Given the description of an element on the screen output the (x, y) to click on. 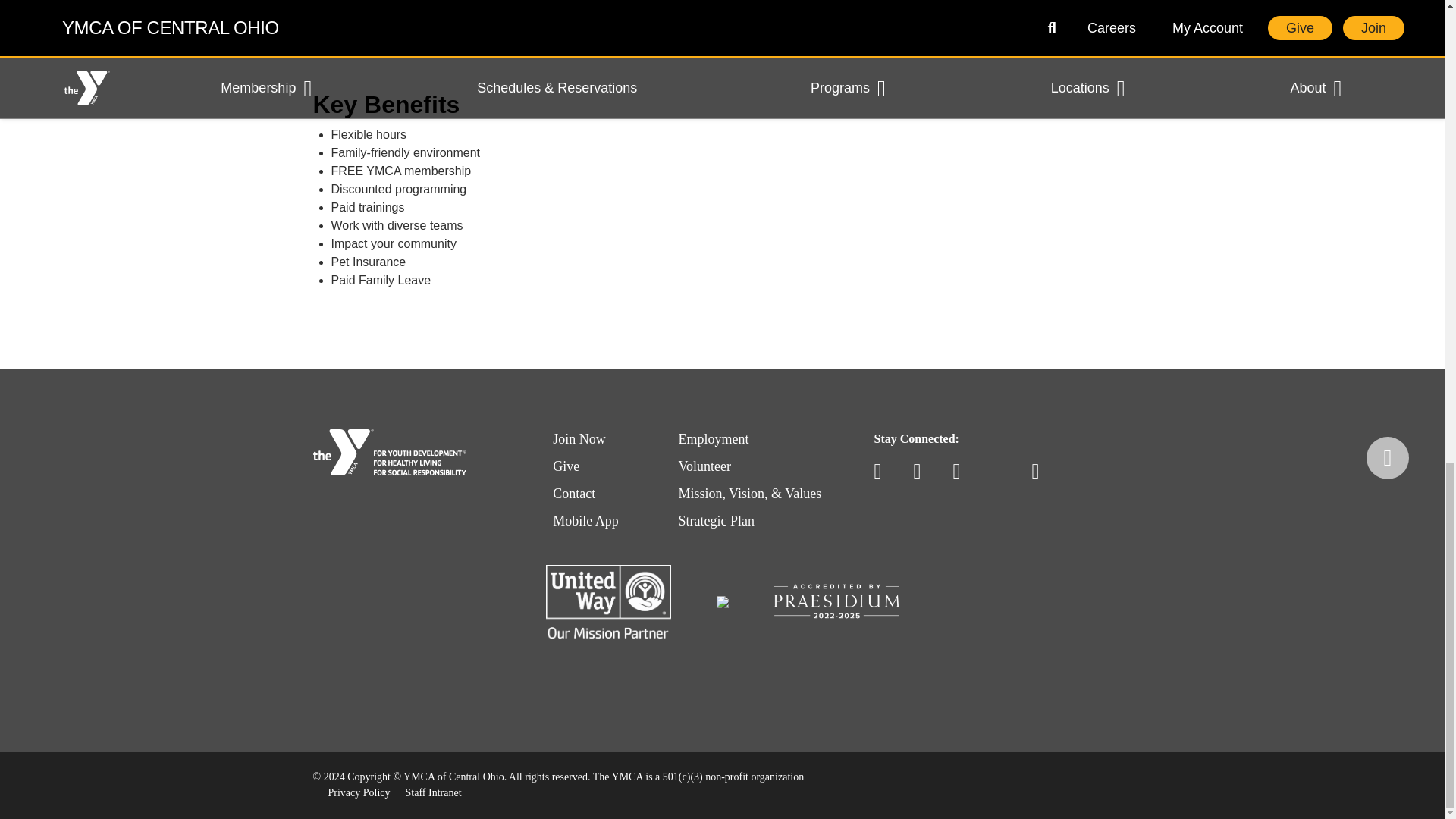
Go to YMCA of Central Ohio's TikTok (1002, 471)
Go to YMCA of Central Ohio's LinkedIn (1041, 471)
Go to YMCA of Central Ohio's Facebook (884, 471)
Go to YMCA of Central Ohio's Instagram (963, 471)
Go to YMCA of Central Ohio's YouTube (923, 471)
